Given the description of an element on the screen output the (x, y) to click on. 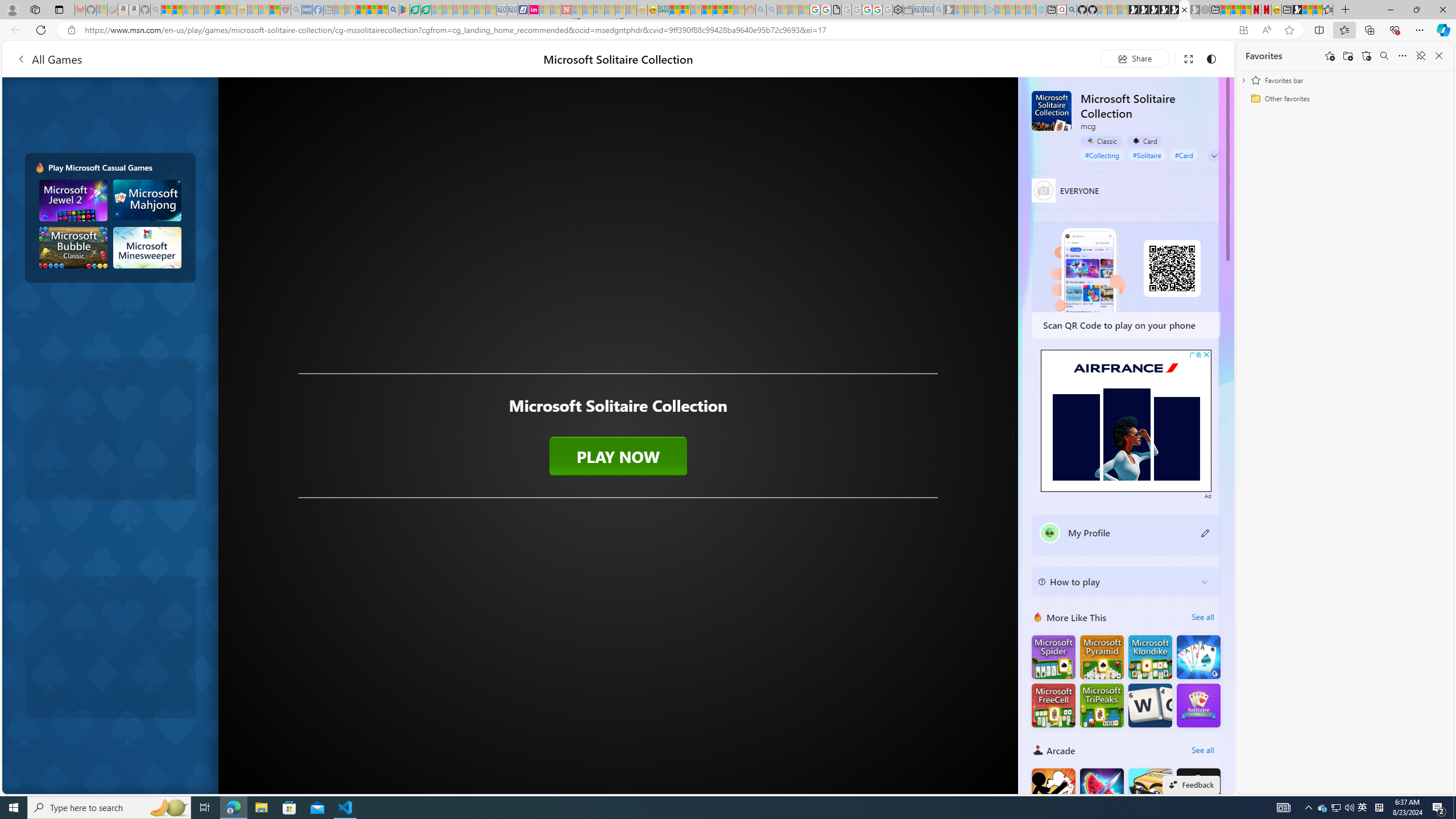
Add folder (1347, 55)
Kinda Frugal - MSN (717, 9)
Home | Sky Blue Bikes - Sky Blue Bikes - Sleeping (1040, 9)
Microsoft TriPeaks Solitaire (1101, 705)
Unpin favorites (1420, 55)
Pets - MSN (371, 9)
